Given the description of an element on the screen output the (x, y) to click on. 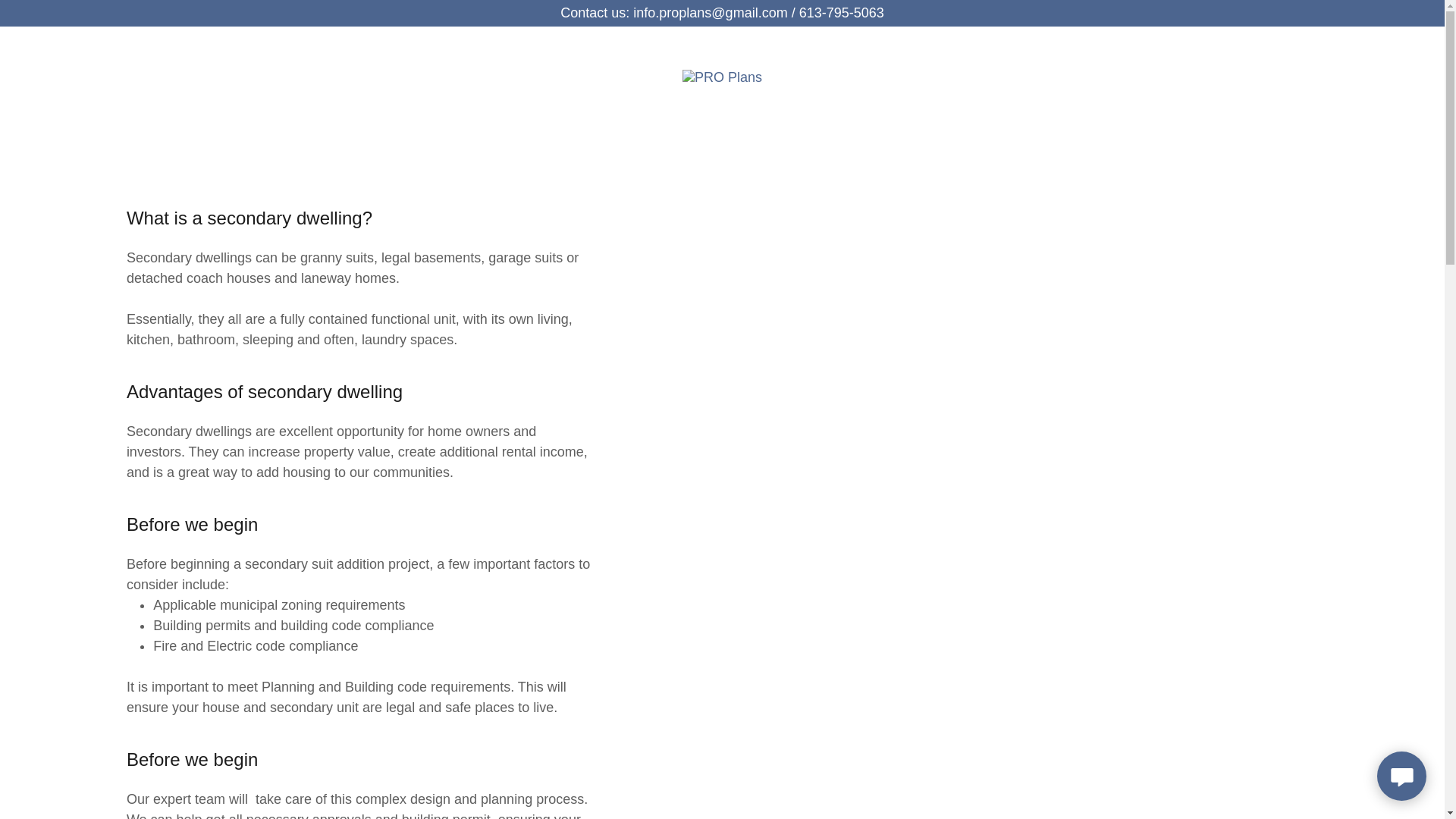
PRO Plans (721, 76)
